Given the description of an element on the screen output the (x, y) to click on. 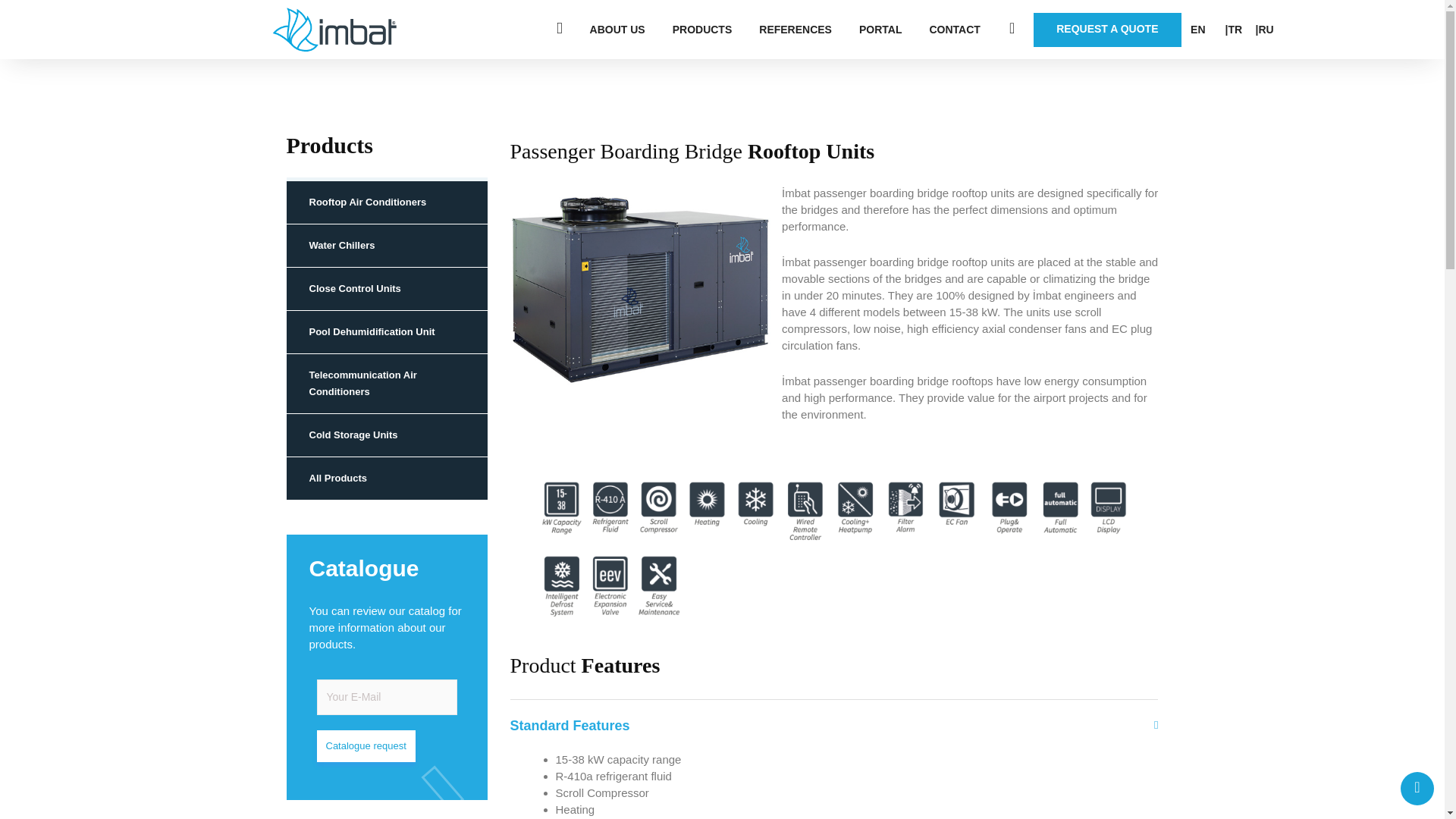
REFERENCES (795, 29)
Rooftop Air Conditioners (386, 202)
Water Chillers (386, 245)
ABOUT US (616, 29)
REQUEST A QUOTE (1106, 28)
Catalogue request (386, 720)
PORTAL (880, 29)
Pool Dehumidification Unit (386, 332)
CONTACT (954, 29)
Cold Storage Units (386, 435)
Telecommunication Air Conditioners (386, 383)
PRODUCTS (702, 29)
Close Control Units (386, 289)
